Given the description of an element on the screen output the (x, y) to click on. 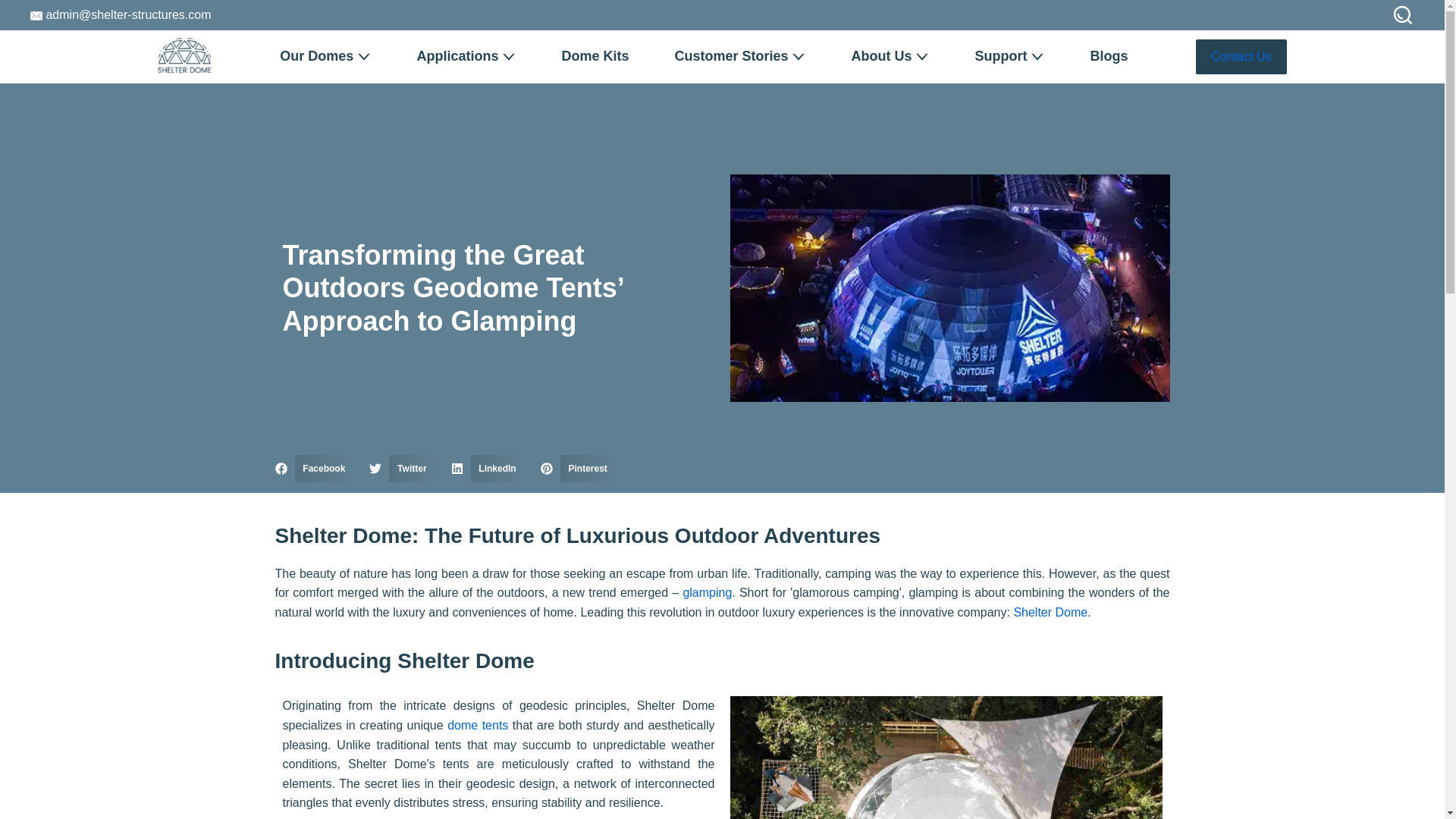
Dome Kits (594, 56)
Contact Us (1241, 56)
dome tents (477, 725)
the lost dome (945, 757)
Our Domes (324, 56)
glamping (707, 592)
About Us (889, 56)
Blogs (1108, 56)
Customer Stories (740, 56)
Support (1009, 56)
Shelter Dome (1050, 612)
Applications (466, 56)
